Given the description of an element on the screen output the (x, y) to click on. 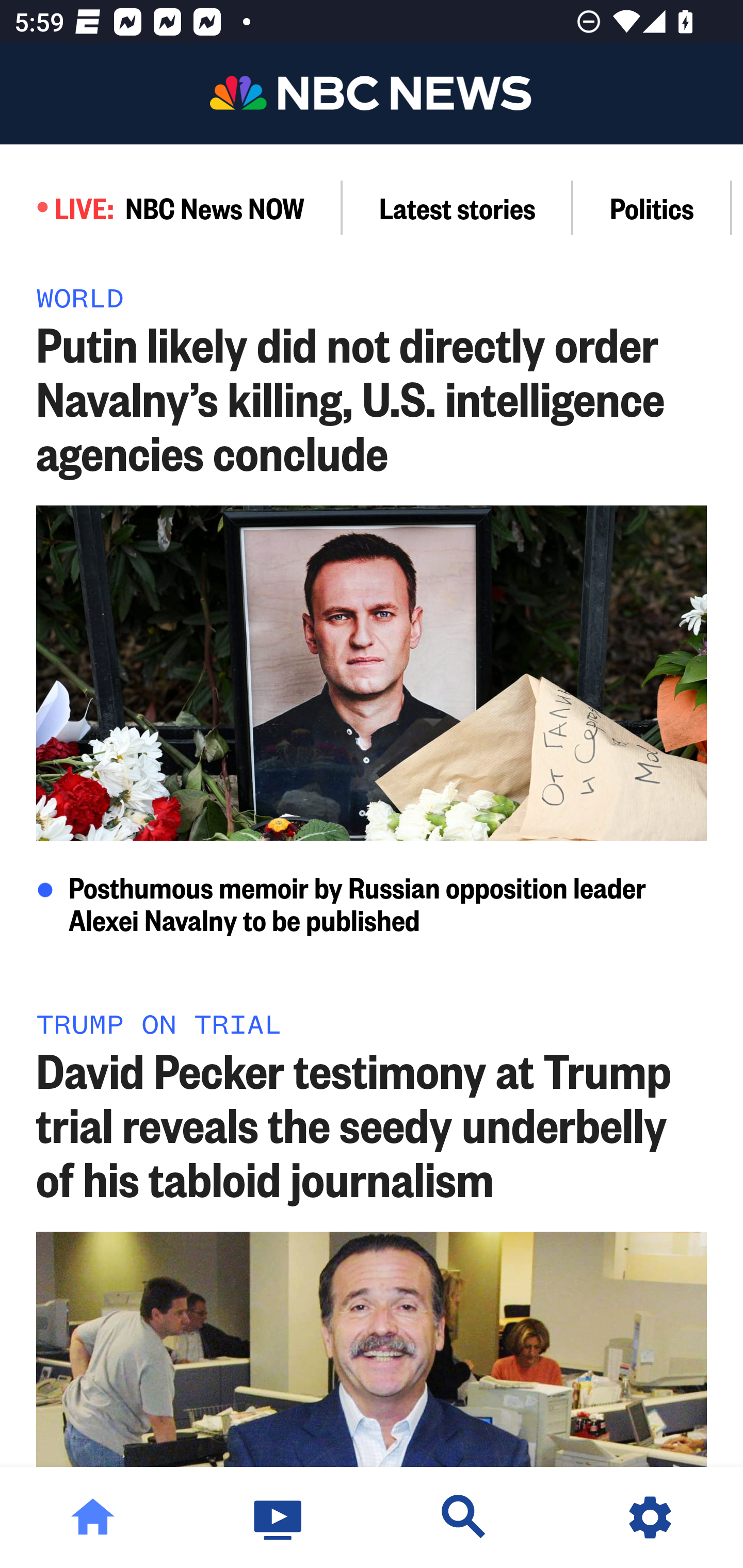
LIVE:  NBC News NOW (171, 207)
Latest stories Section,Latest stories (457, 207)
Politics Section,Politics (652, 207)
Watch (278, 1517)
Discover (464, 1517)
Settings (650, 1517)
